Given the description of an element on the screen output the (x, y) to click on. 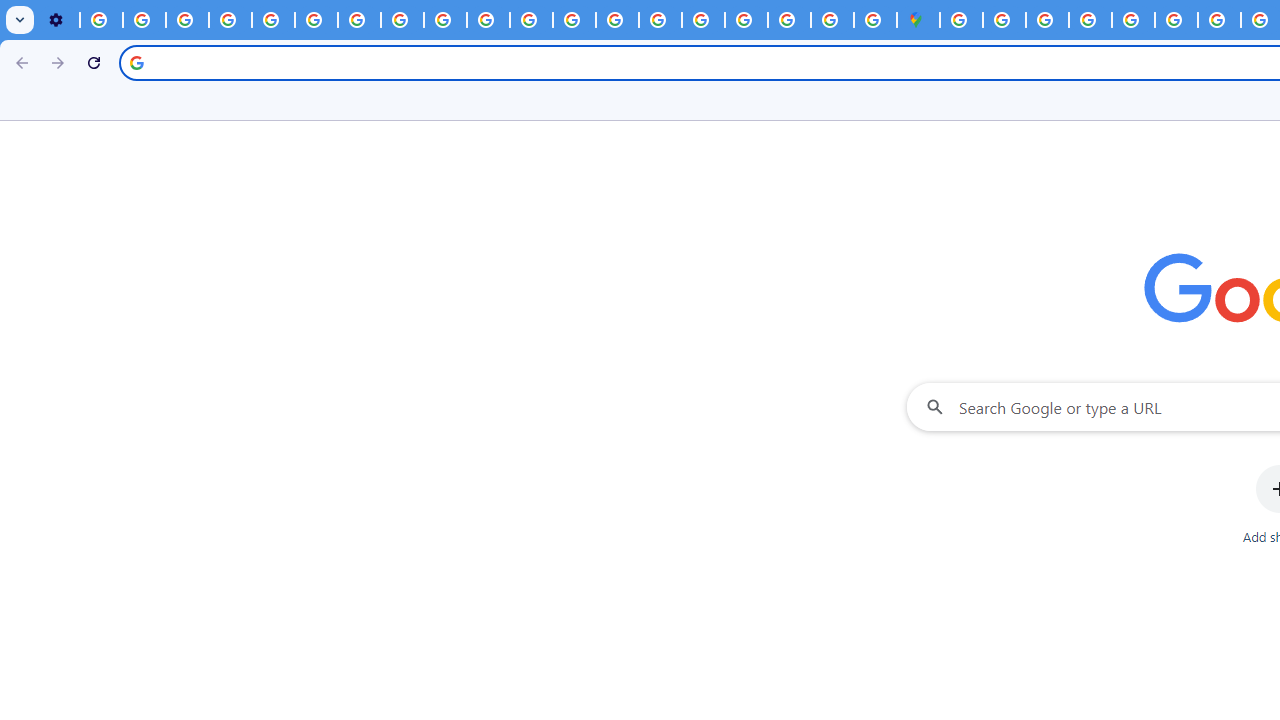
https://scholar.google.com/ (530, 20)
Learn how to find your photos - Google Photos Help (144, 20)
Privacy Checkup (488, 20)
Sign in - Google Accounts (961, 20)
Sign in - Google Accounts (1004, 20)
Privacy Help Center - Policies Help (574, 20)
